Given the description of an element on the screen output the (x, y) to click on. 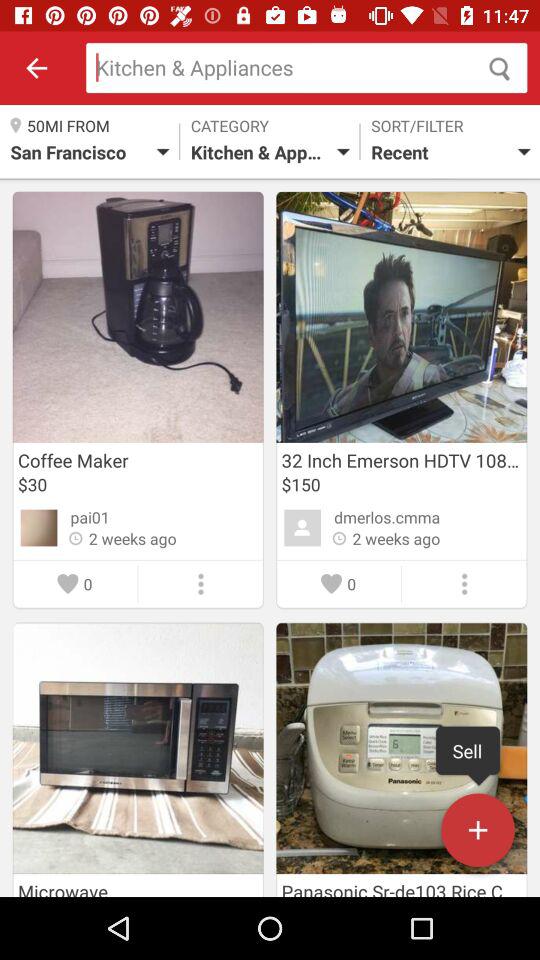
turn off the pai01 icon (89, 517)
